Given the description of an element on the screen output the (x, y) to click on. 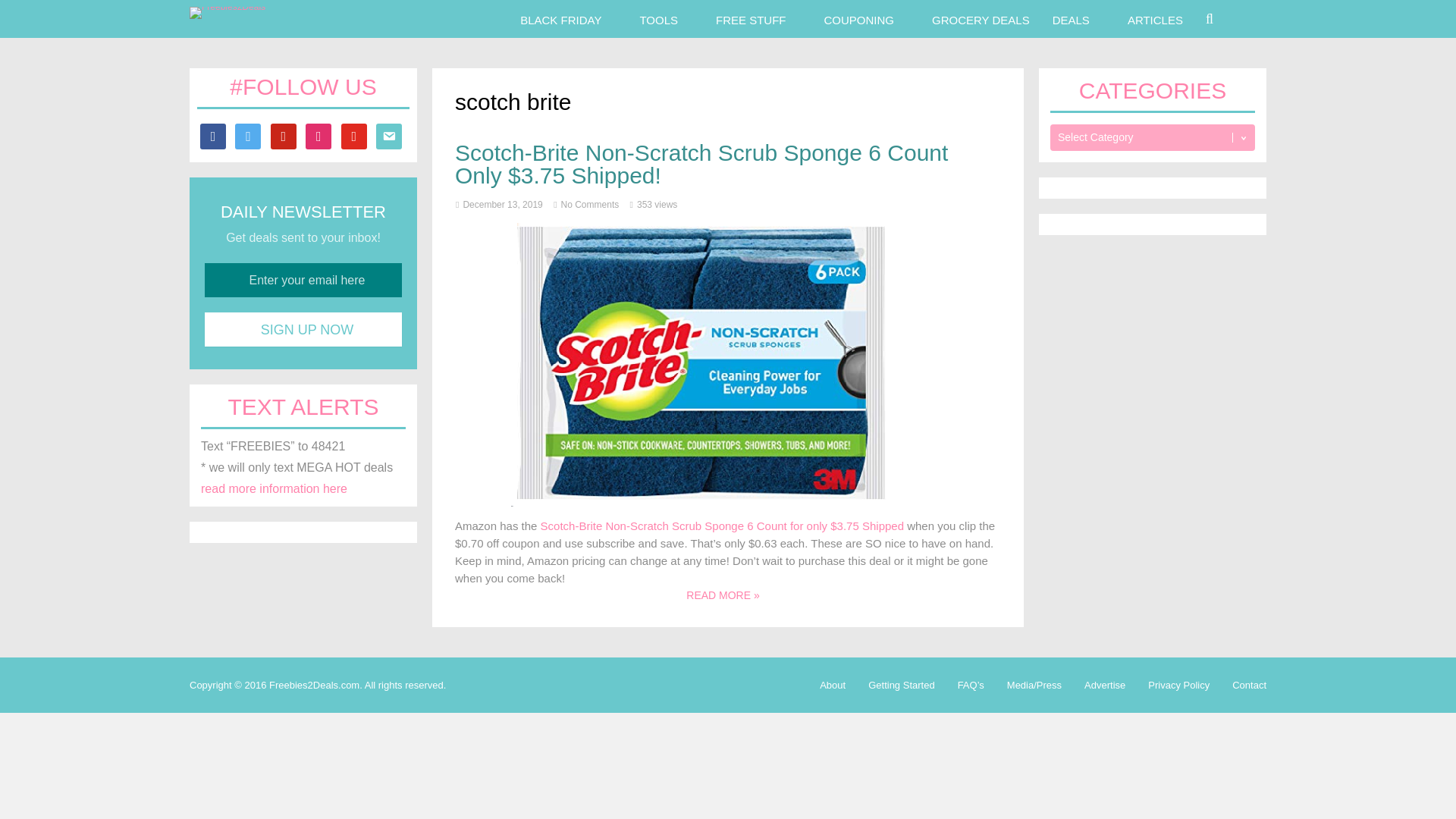
Freebies2Deals (226, 6)
Friend me on Facebook (212, 134)
Follow Me (247, 134)
Instagram (318, 134)
Sign Up Now (303, 329)
TOOLS (658, 18)
BLACK FRIDAY (560, 18)
